Given the description of an element on the screen output the (x, y) to click on. 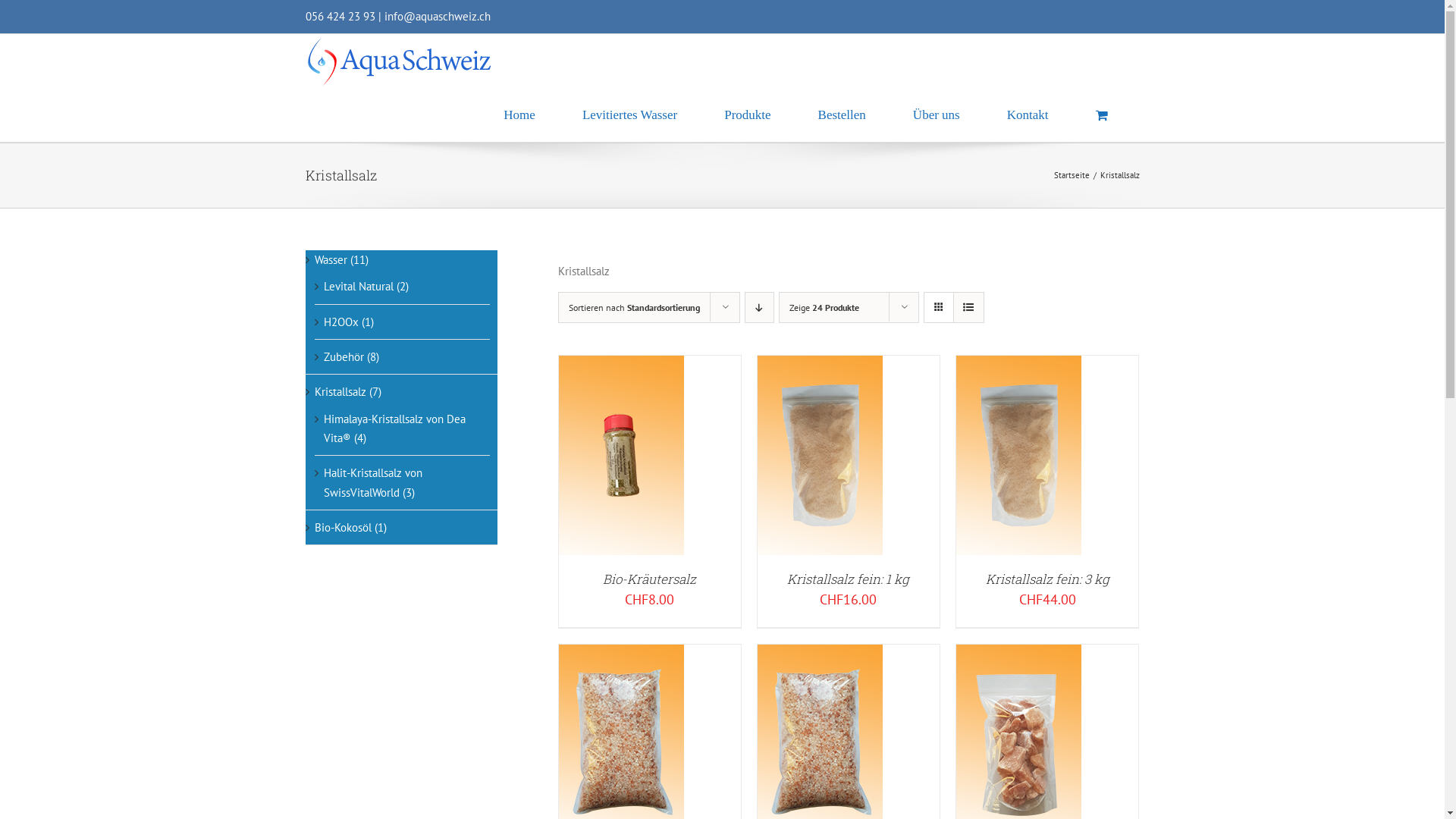
Bestellen Element type: text (842, 114)
info@aquaschweiz.ch Element type: text (436, 16)
Levitiertes Wasser Element type: text (629, 114)
Kristallsalz fein: 1 kg Element type: text (848, 578)
Halit-Kristallsalz von SwissVitalWorld Element type: text (372, 481)
Sortieren nach Standardsortierung Element type: text (633, 307)
Kristallsalz Element type: text (339, 391)
Home Element type: text (519, 114)
Zeige 24 Produkte Element type: text (823, 307)
Produkte Element type: text (747, 114)
Wasser Element type: text (329, 259)
H2OOx Element type: text (340, 321)
Levital Natural Element type: text (357, 286)
Kristallsalz fein: 3 kg Element type: text (1047, 578)
Startseite Element type: text (1071, 174)
Kontakt Element type: text (1027, 114)
